Given the description of an element on the screen output the (x, y) to click on. 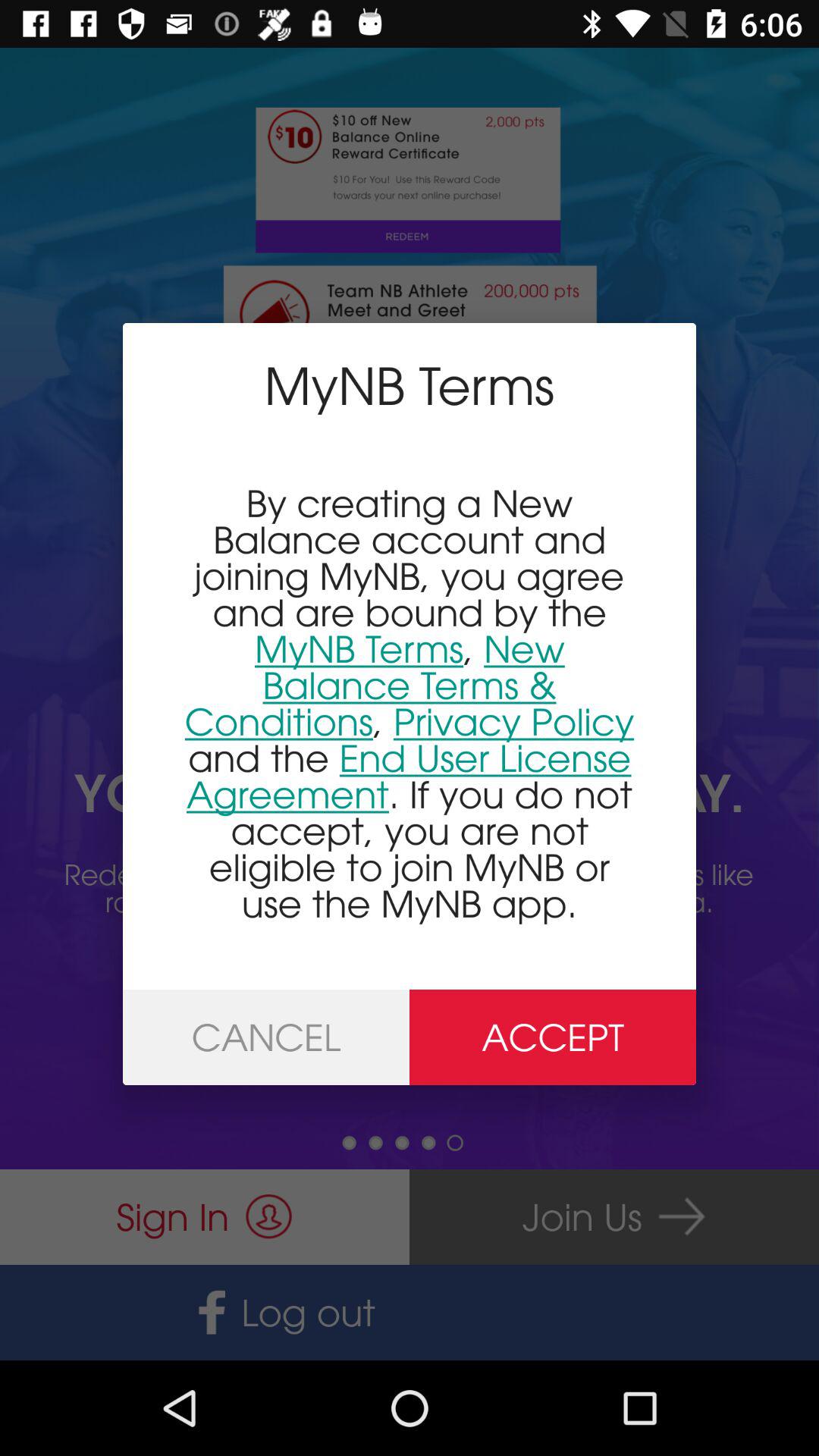
select by creating a item (409, 702)
